Given the description of an element on the screen output the (x, y) to click on. 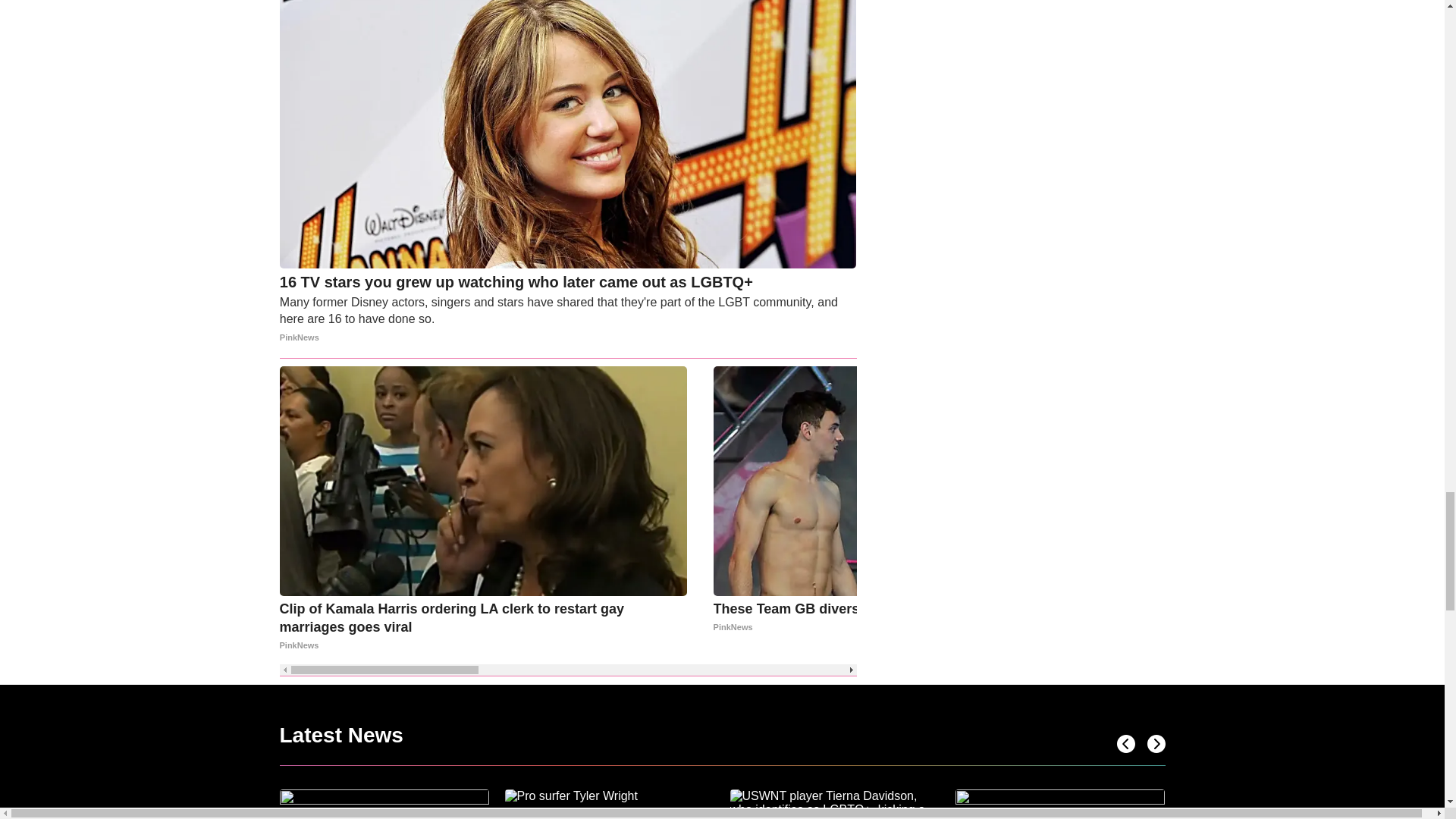
These Team GB divers are on OnlyFans (917, 617)
